Given the description of an element on the screen output the (x, y) to click on. 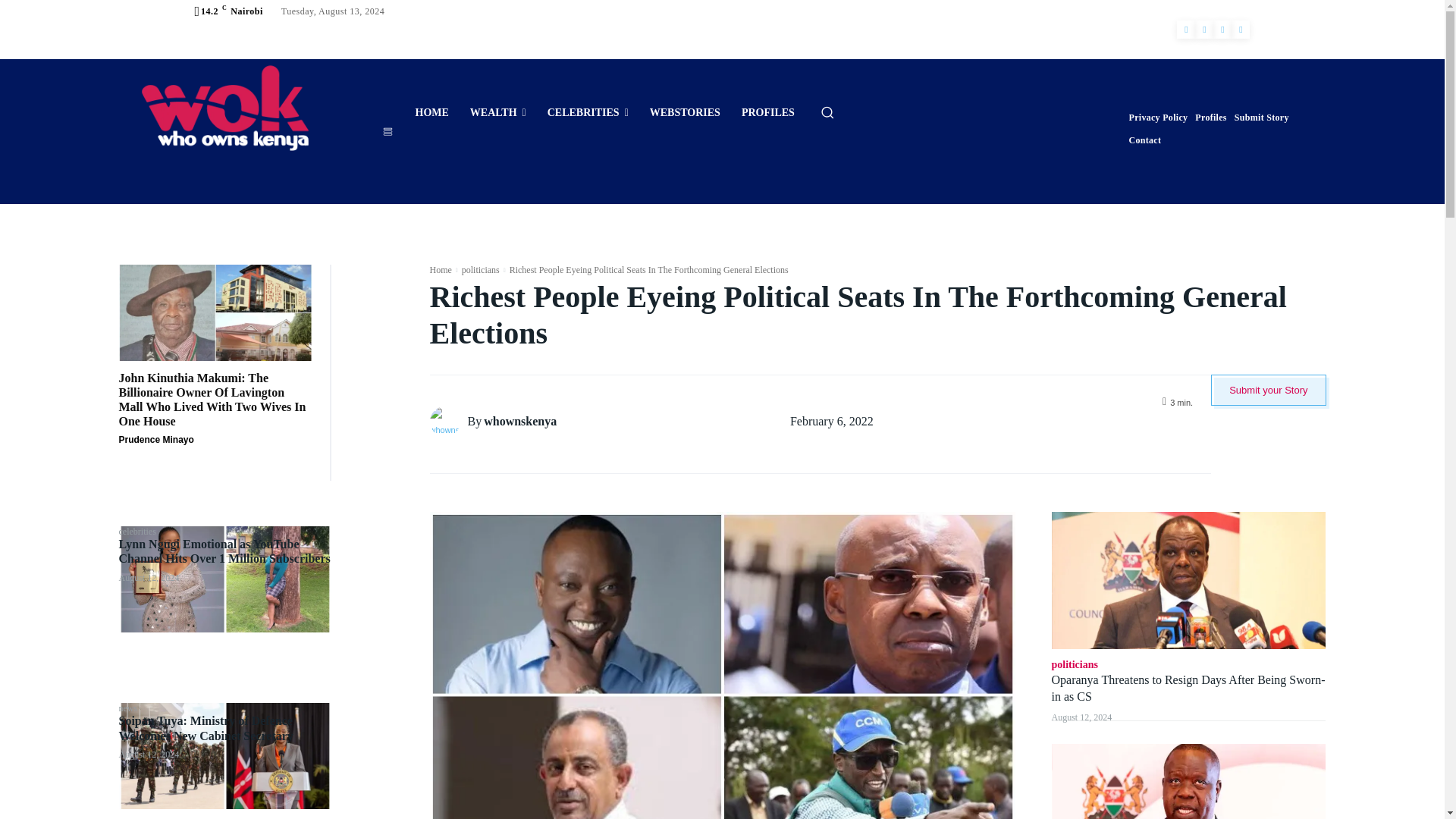
Instagram (1203, 29)
Twitter (1221, 29)
Youtube (1240, 29)
Facebook (1185, 29)
